Given the description of an element on the screen output the (x, y) to click on. 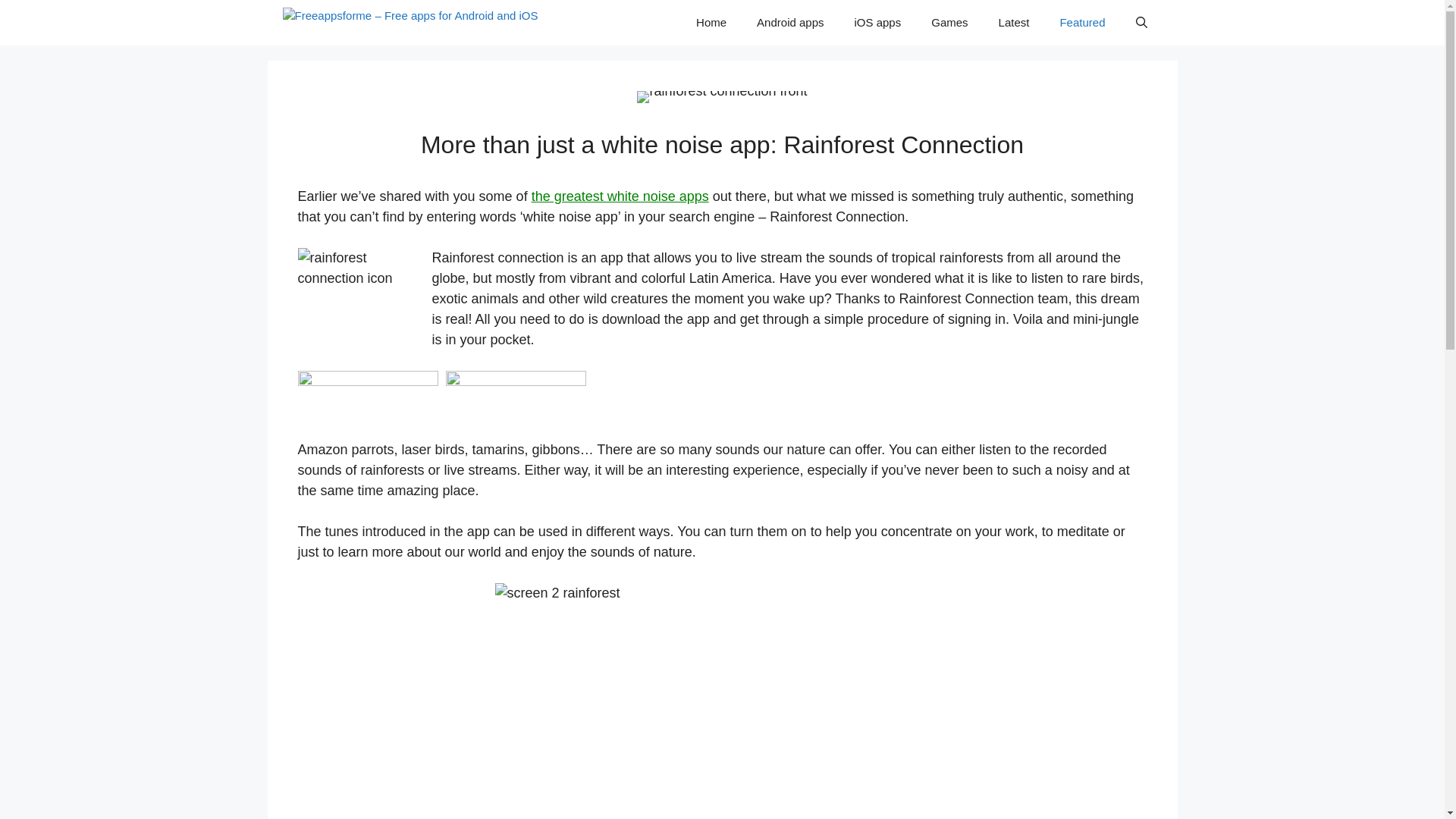
Latest (1014, 22)
Android apps (789, 22)
Featured (1081, 22)
Games (948, 22)
iOS apps (878, 22)
the greatest white noise apps (620, 196)
Home (711, 22)
